Given the description of an element on the screen output the (x, y) to click on. 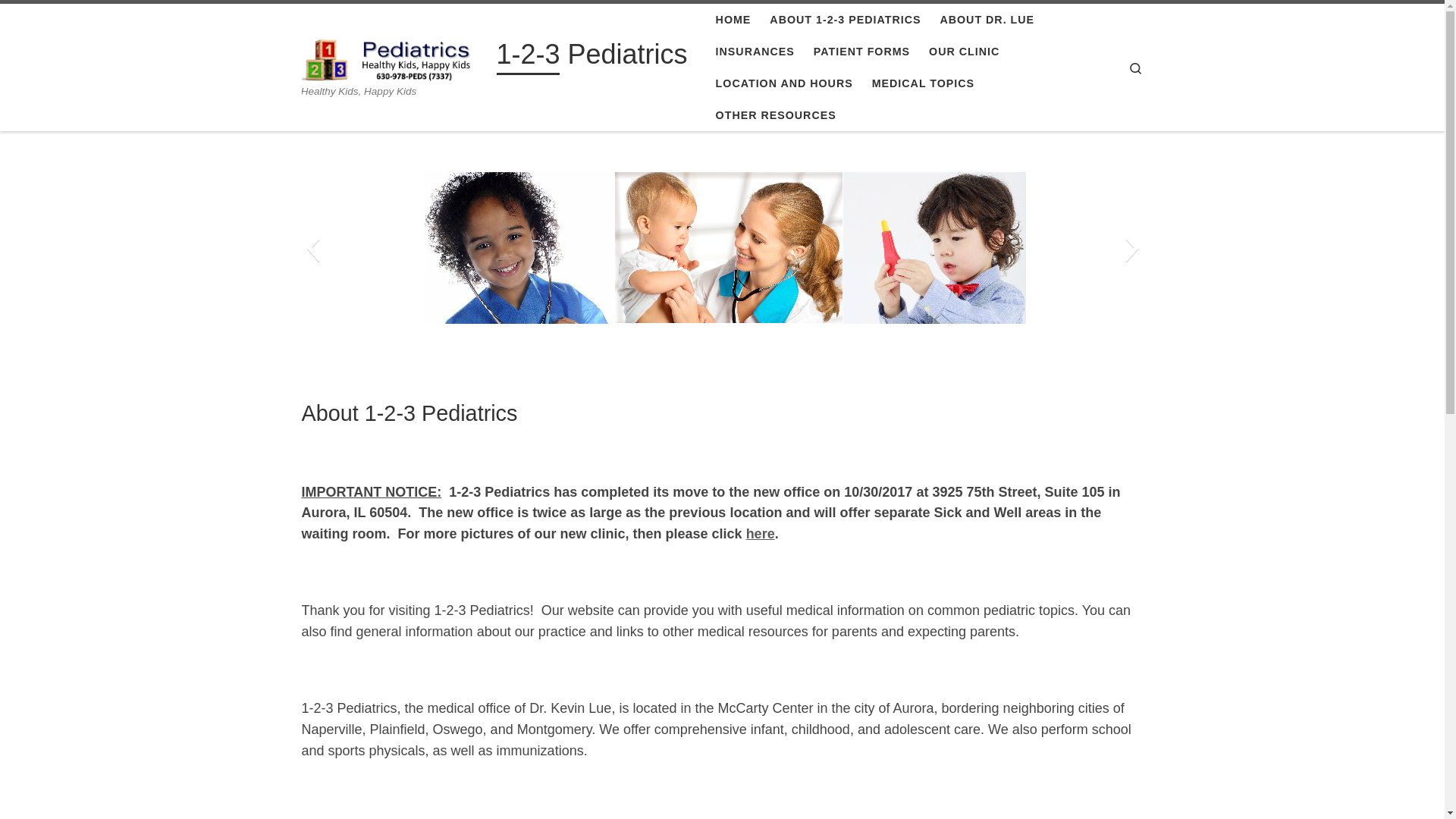
PATIENT FORMS Element type: text (862, 51)
Search Element type: text (1135, 67)
INSURANCES Element type: text (754, 51)
LOCATION AND HOURS Element type: text (783, 83)
1-2-3 Pediatrics Element type: text (591, 57)
ABOUT DR. LUE Element type: text (986, 19)
here Element type: text (760, 533)
Skip to content Element type: text (61, 20)
ABOUT 1-2-3 PEDIATRICS Element type: text (845, 19)
OTHER RESOURCES Element type: text (775, 115)
HOME Element type: text (732, 19)
MEDICAL TOPICS Element type: text (922, 83)
OUR CLINIC Element type: text (964, 51)
